Given the description of an element on the screen output the (x, y) to click on. 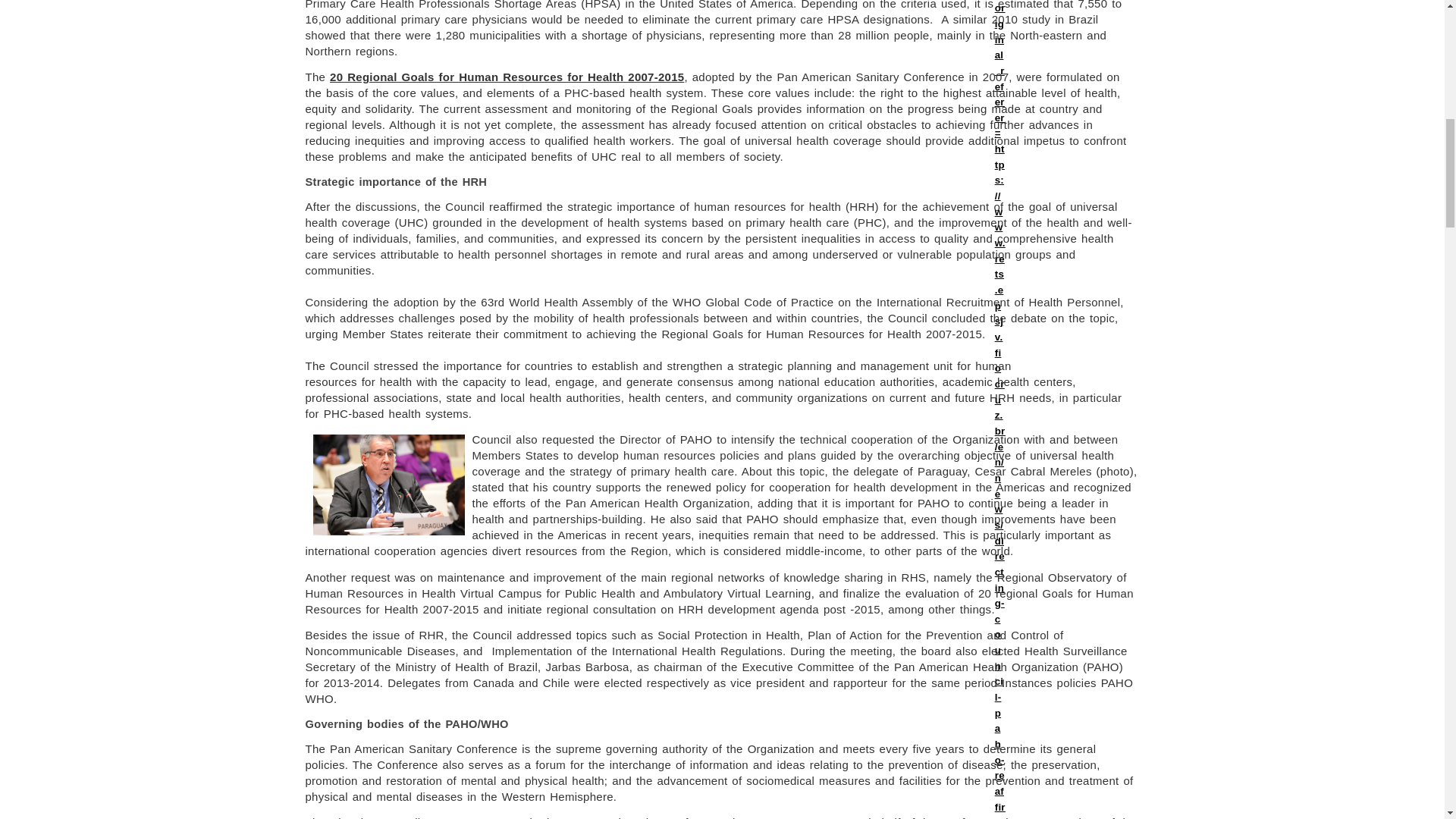
20 Regional Goals for Human Resources for Health 2007-2015 (507, 76)
